Given the description of an element on the screen output the (x, y) to click on. 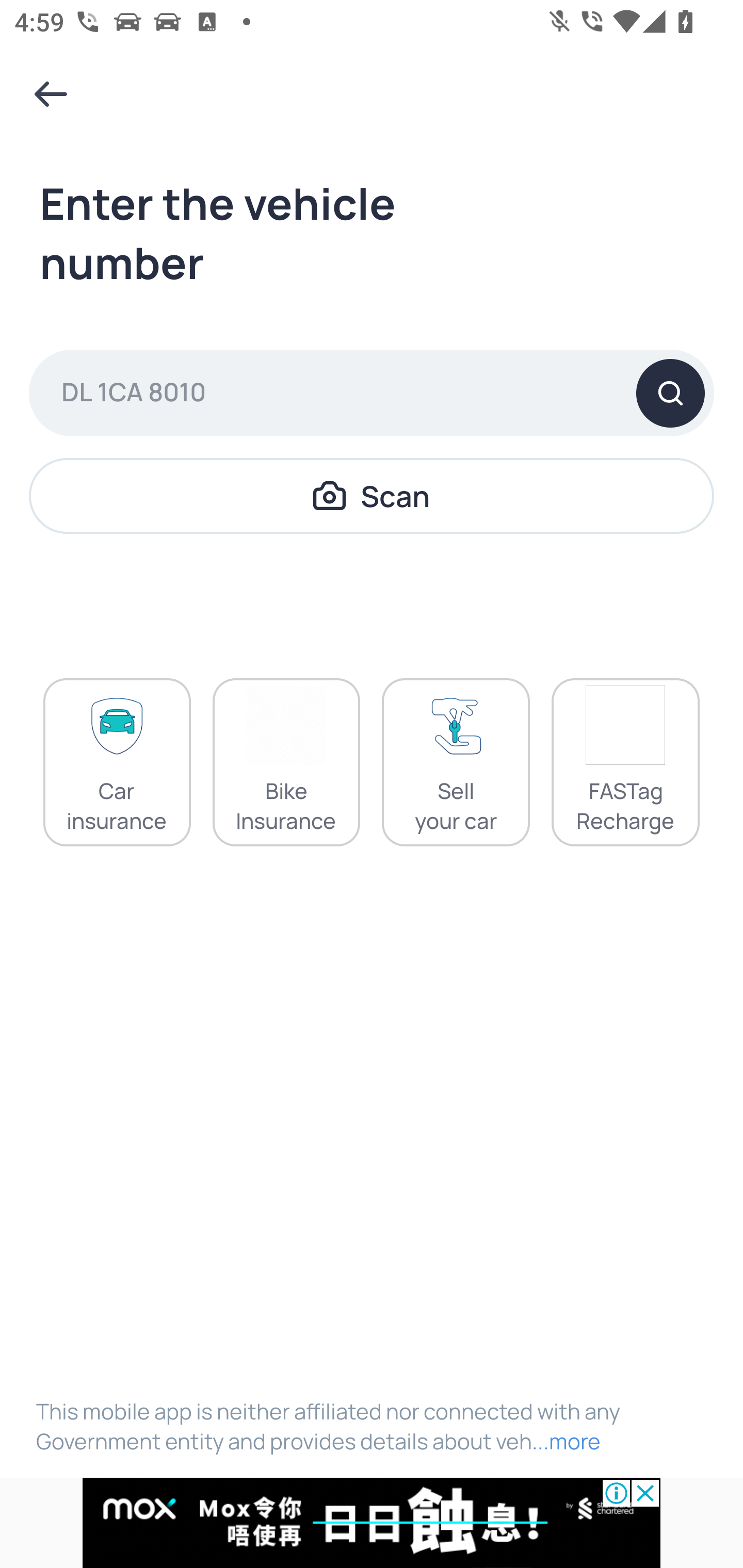
Navigate up (50, 93)
DL 1CA 8010 (371, 392)
Scan (371, 495)
Car
insurance (116, 762)
Bike
Insurance (286, 762)
Sell
your car (455, 762)
FASTag Recharge (625, 762)
